Given the description of an element on the screen output the (x, y) to click on. 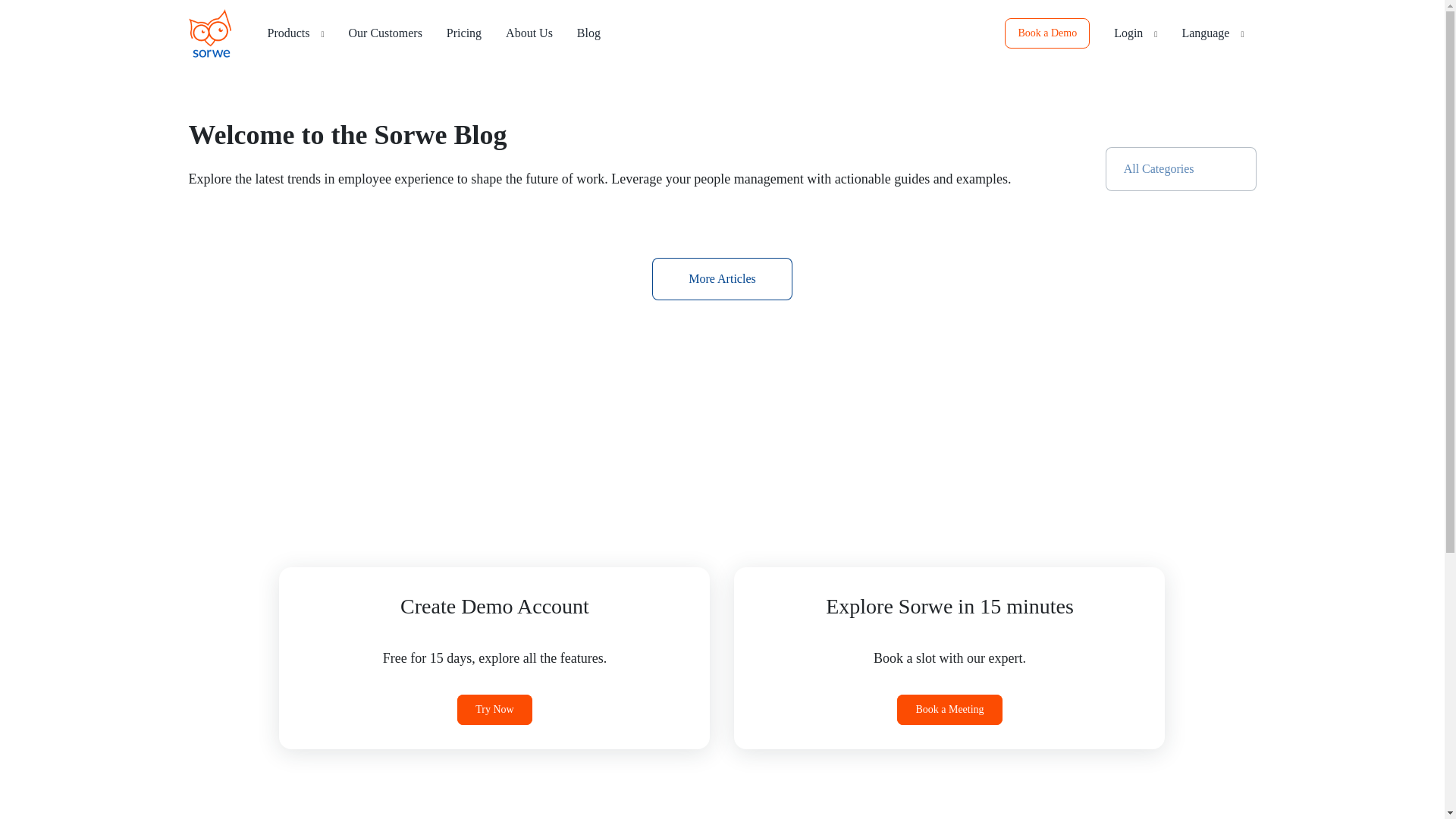
Contact Us (528, 33)
All Categories (1180, 168)
Blog (588, 33)
Pricing (463, 33)
About Us (528, 33)
Book a Demo (1046, 33)
Login (1135, 33)
Book a Demo (1046, 33)
Pricing (463, 33)
Our Customers (384, 33)
